Given the description of an element on the screen output the (x, y) to click on. 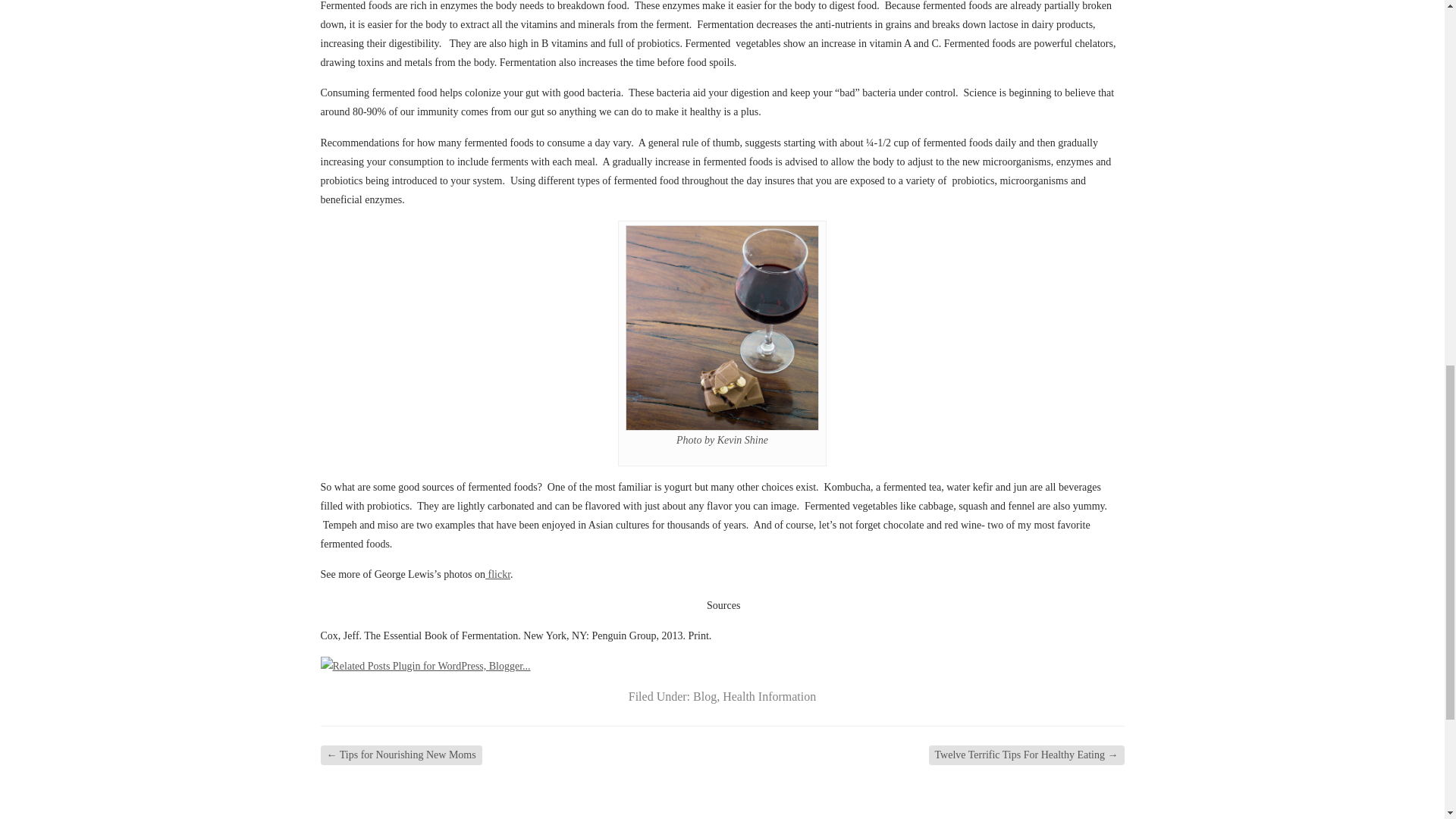
flickr (497, 573)
Health Information (768, 696)
Blog (704, 696)
